Given the description of an element on the screen output the (x, y) to click on. 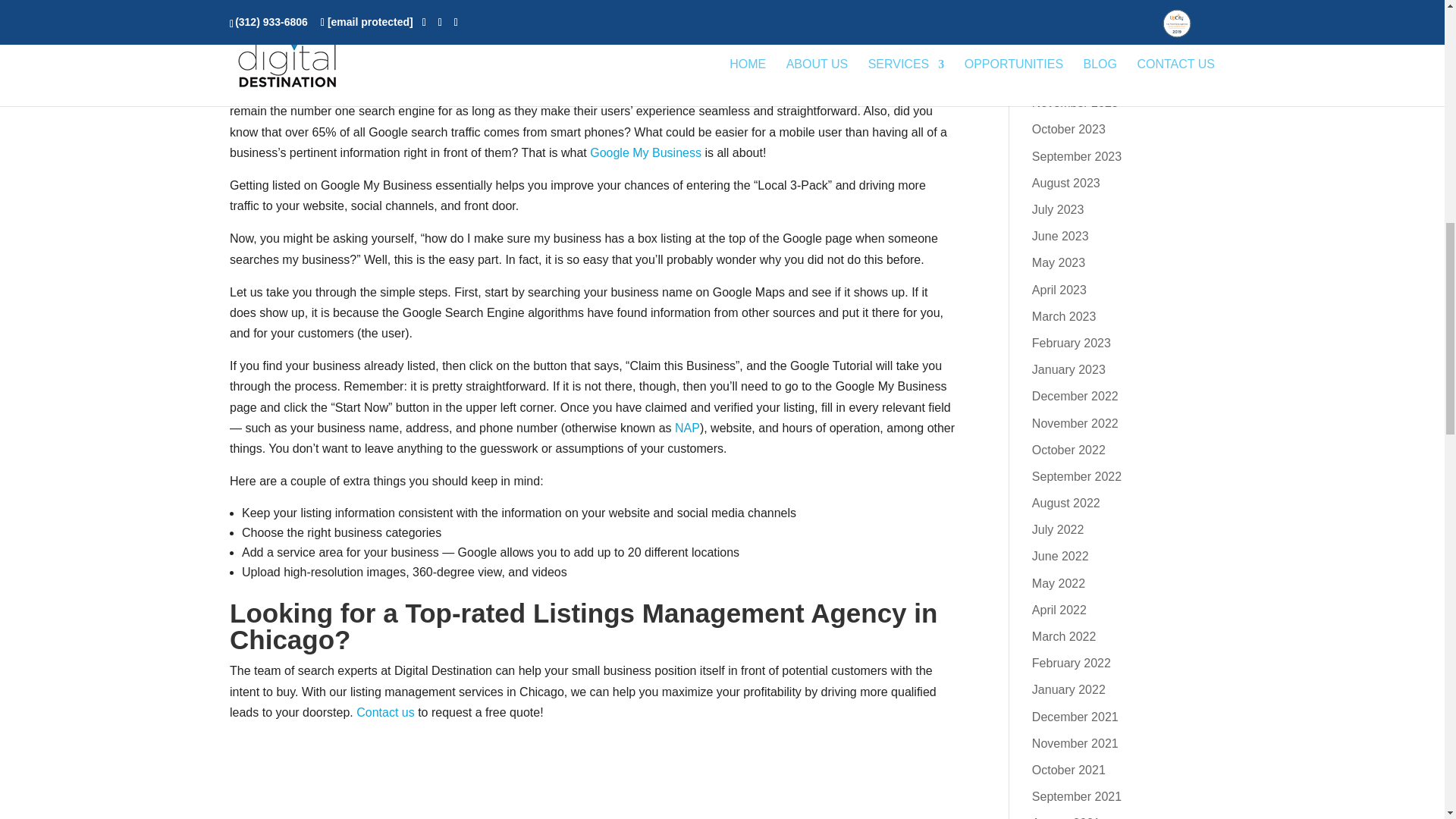
online listings (638, 1)
NAP (687, 427)
Google My Business (645, 152)
March 2024 (1064, 1)
Contact us (384, 712)
February 2024 (1071, 22)
